Given the description of an element on the screen output the (x, y) to click on. 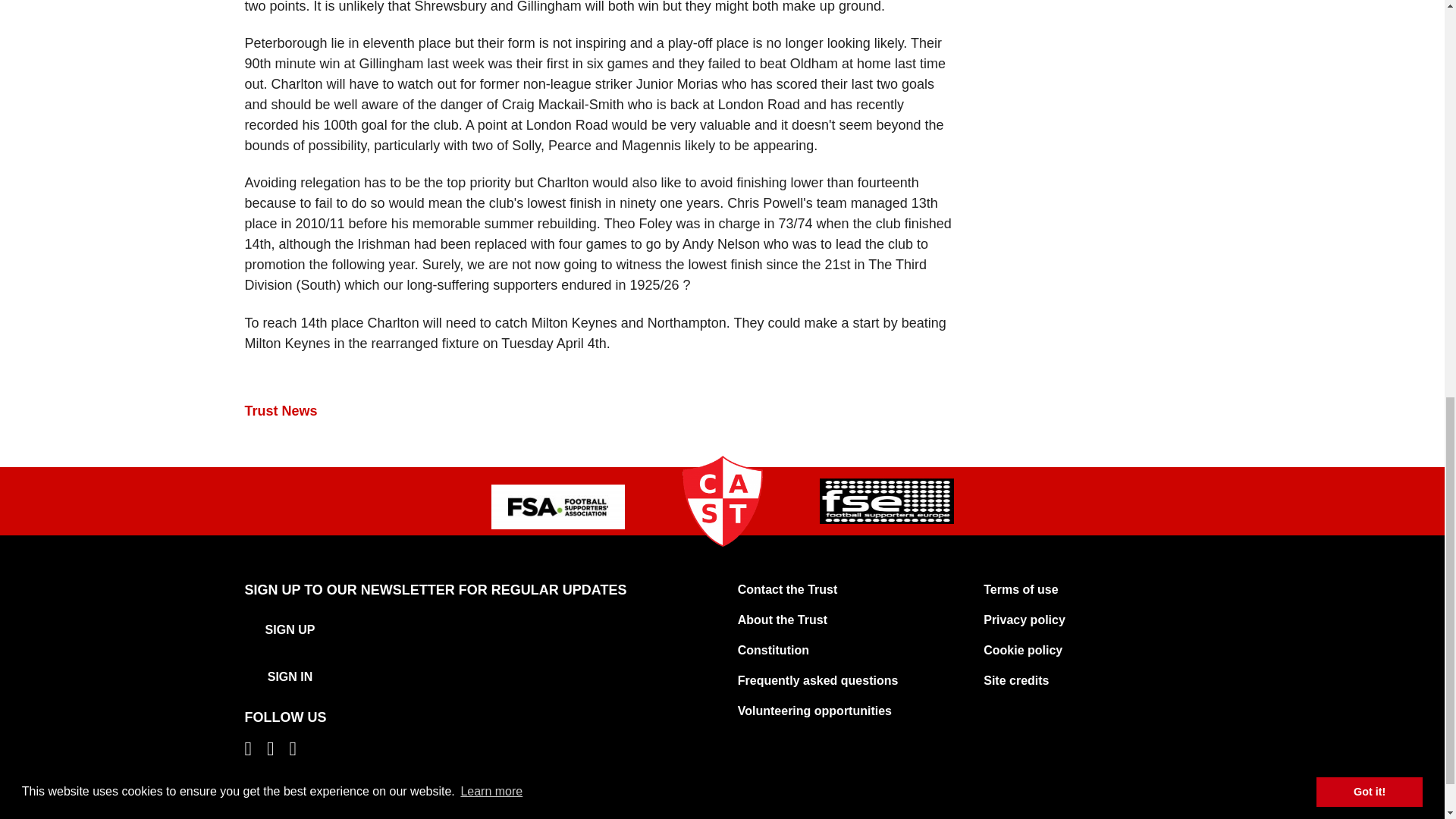
FSA (559, 506)
CASTrust-Site-Icon (722, 501)
Trust News (280, 410)
